Given the description of an element on the screen output the (x, y) to click on. 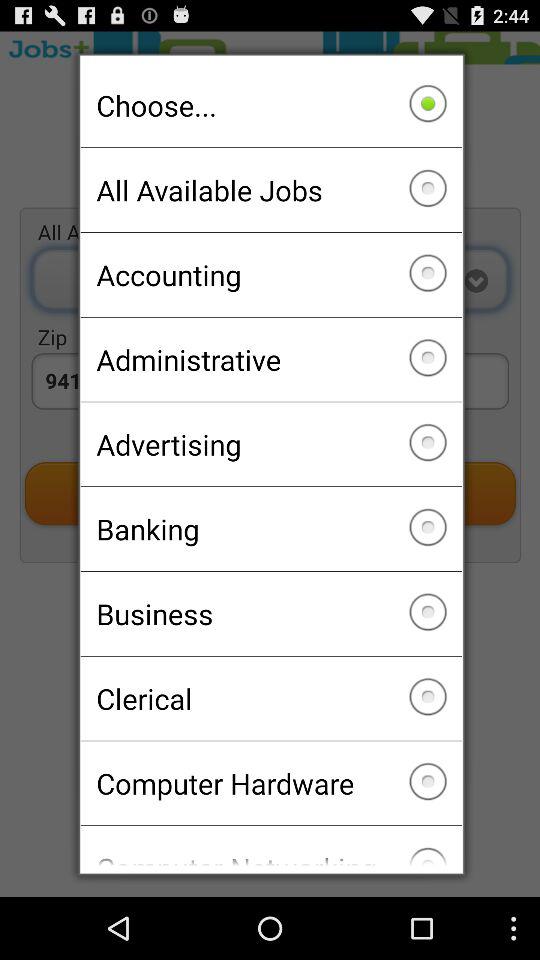
turn off the icon above computer networking checkbox (270, 783)
